Given the description of an element on the screen output the (x, y) to click on. 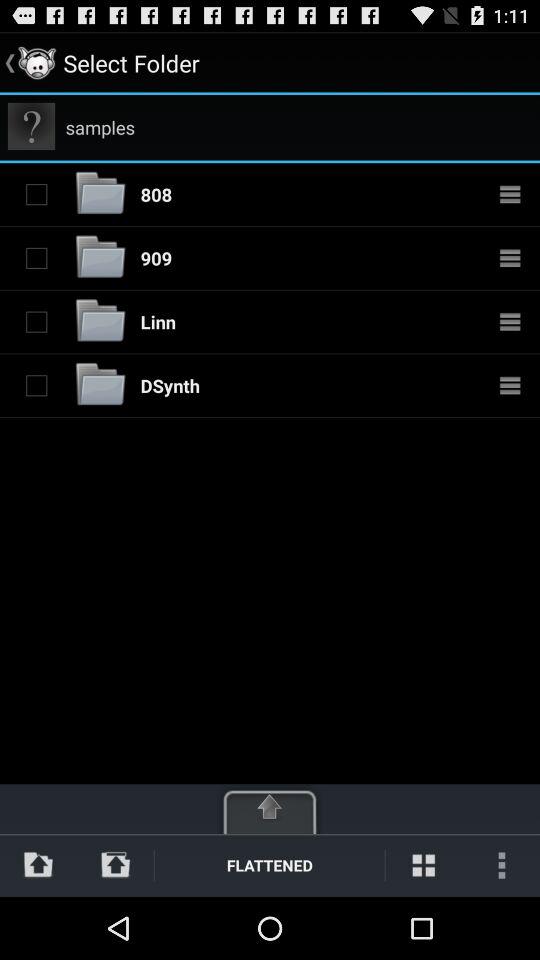
open folder (100, 385)
